Given the description of an element on the screen output the (x, y) to click on. 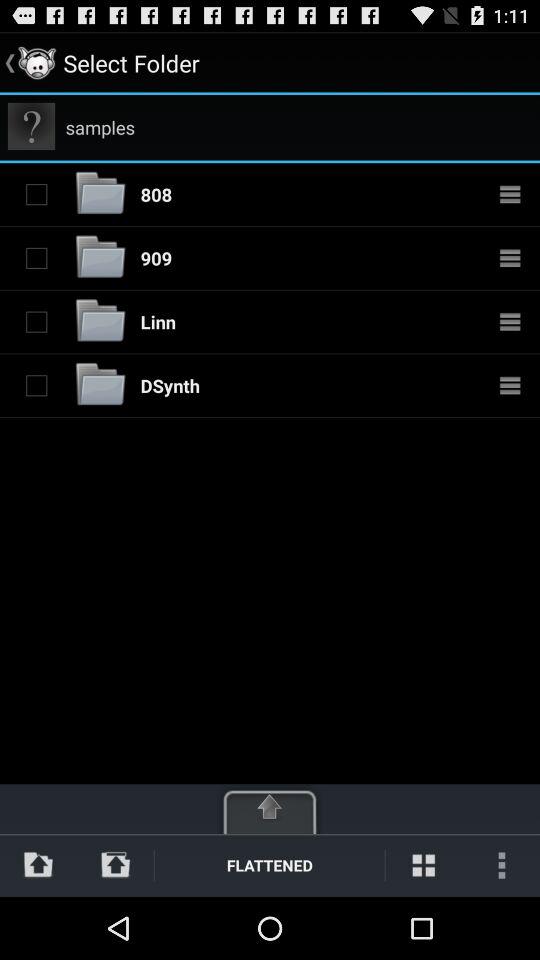
open folder (100, 385)
